Given the description of an element on the screen output the (x, y) to click on. 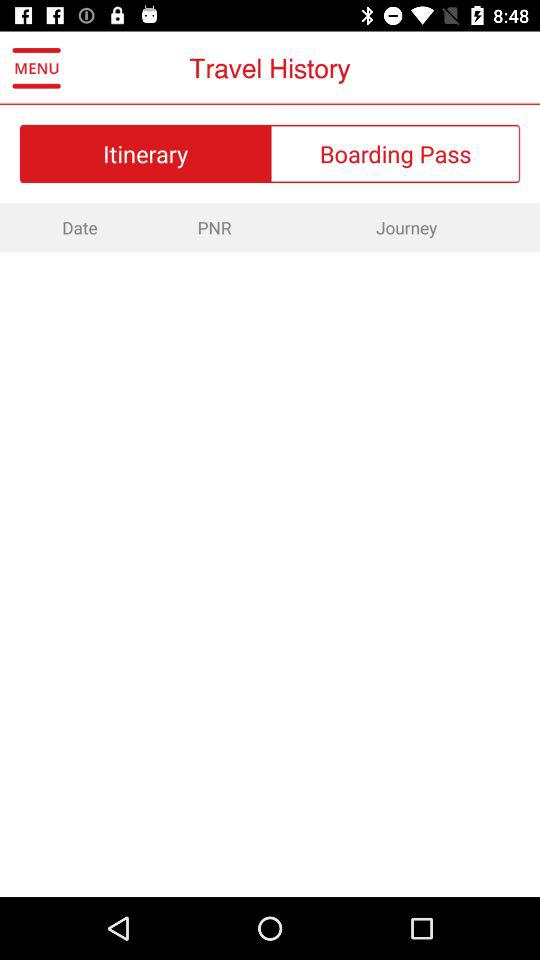
press icon to the left of travel history icon (36, 68)
